Given the description of an element on the screen output the (x, y) to click on. 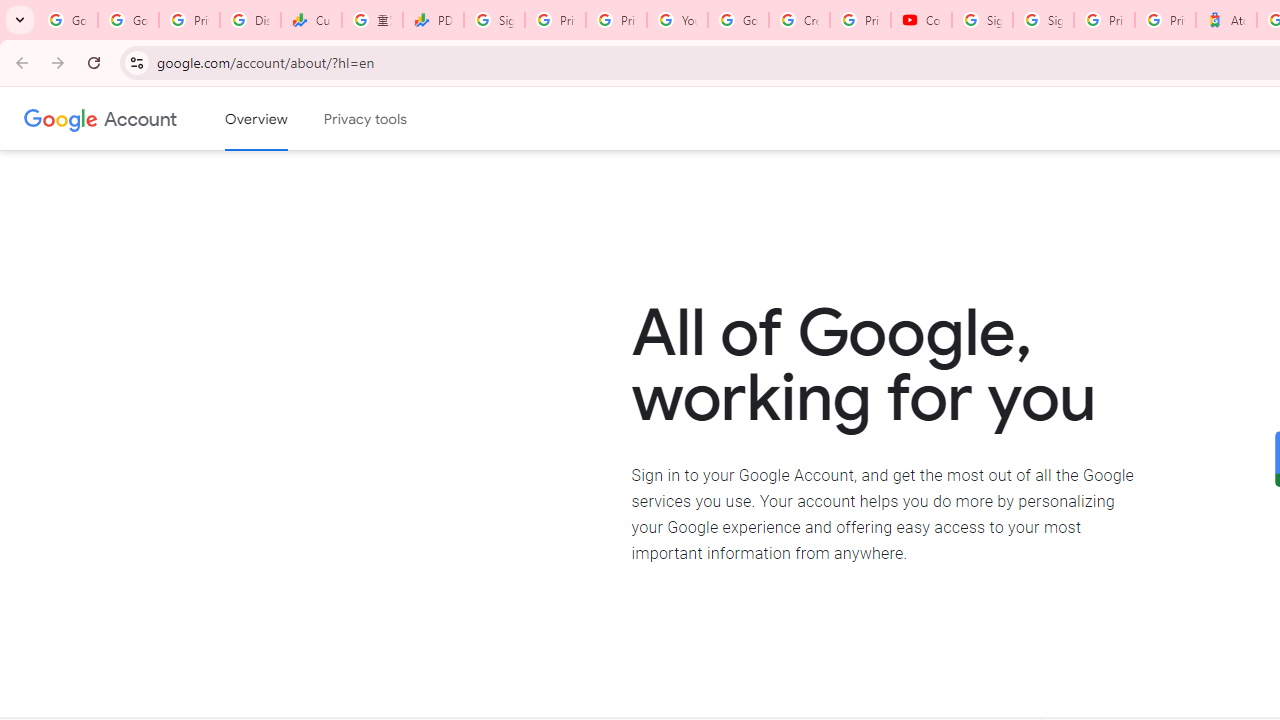
Content Creator Programs & Opportunities - YouTube Creators (921, 20)
Google Workspace Admin Community (67, 20)
Google Account Help (738, 20)
Skip to Content (285, 115)
Privacy tools (365, 119)
PDD Holdings Inc - ADR (PDD) Price & News - Google Finance (433, 20)
